Given the description of an element on the screen output the (x, y) to click on. 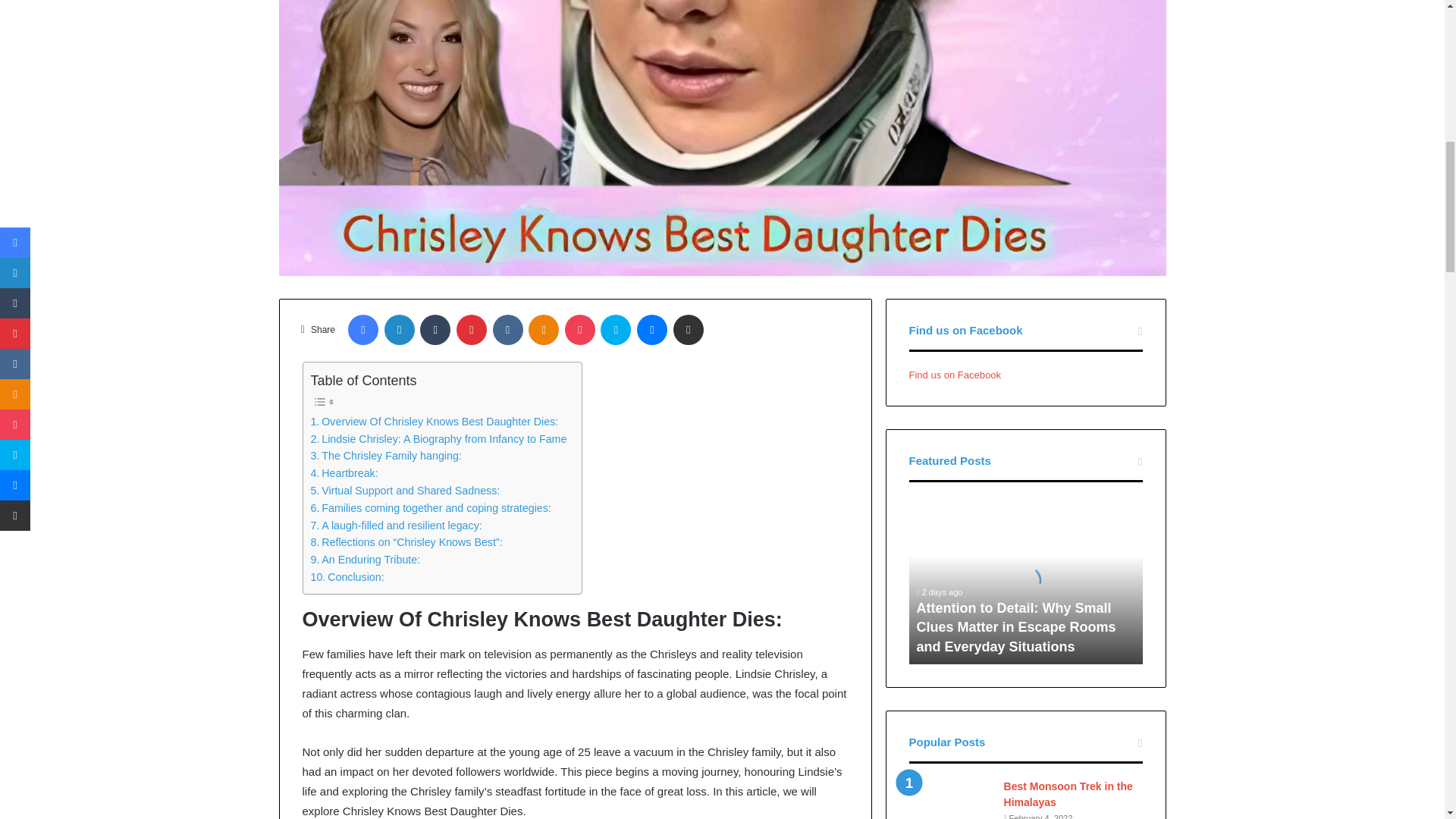
VKontakte (507, 329)
Tumblr (434, 329)
LinkedIn (399, 329)
Pinterest (471, 329)
Facebook (362, 329)
Odnoklassniki (543, 329)
